Given the description of an element on the screen output the (x, y) to click on. 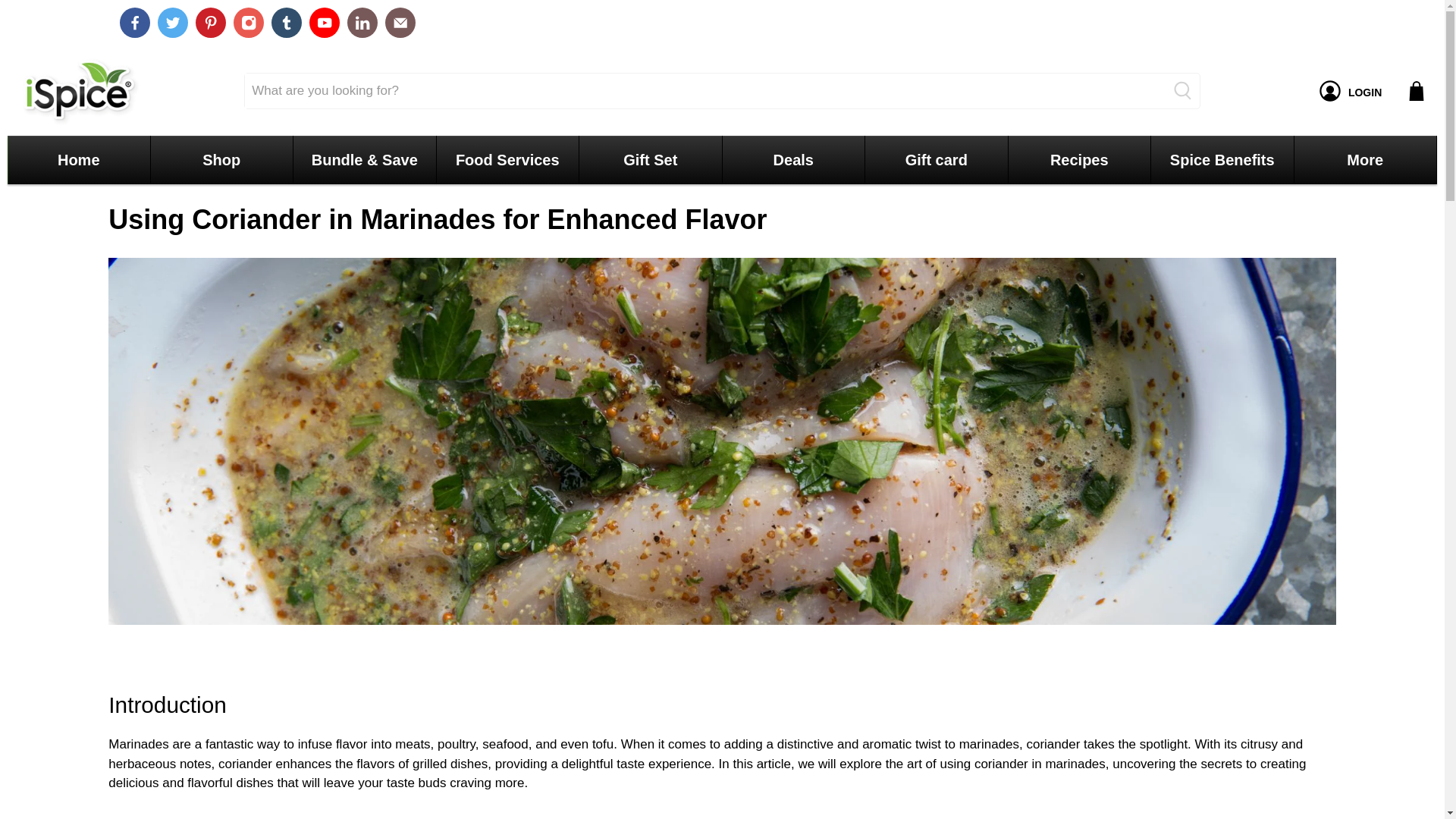
iSpice You on Twitter (172, 22)
iSpice You on YouTube (323, 22)
iSpice You on Pinterest (210, 22)
Home (78, 159)
LOGIN (1350, 90)
Recipes (1079, 159)
Gift Set (649, 159)
iSpice You on LinkedIn (362, 22)
Food Services (507, 159)
iSpice You on Facebook (134, 22)
Email iSpice You (399, 22)
iSpice You on Instagram (247, 22)
iSpice You on Tumblr (285, 22)
iSpice You (77, 90)
Deals (793, 159)
